Given the description of an element on the screen output the (x, y) to click on. 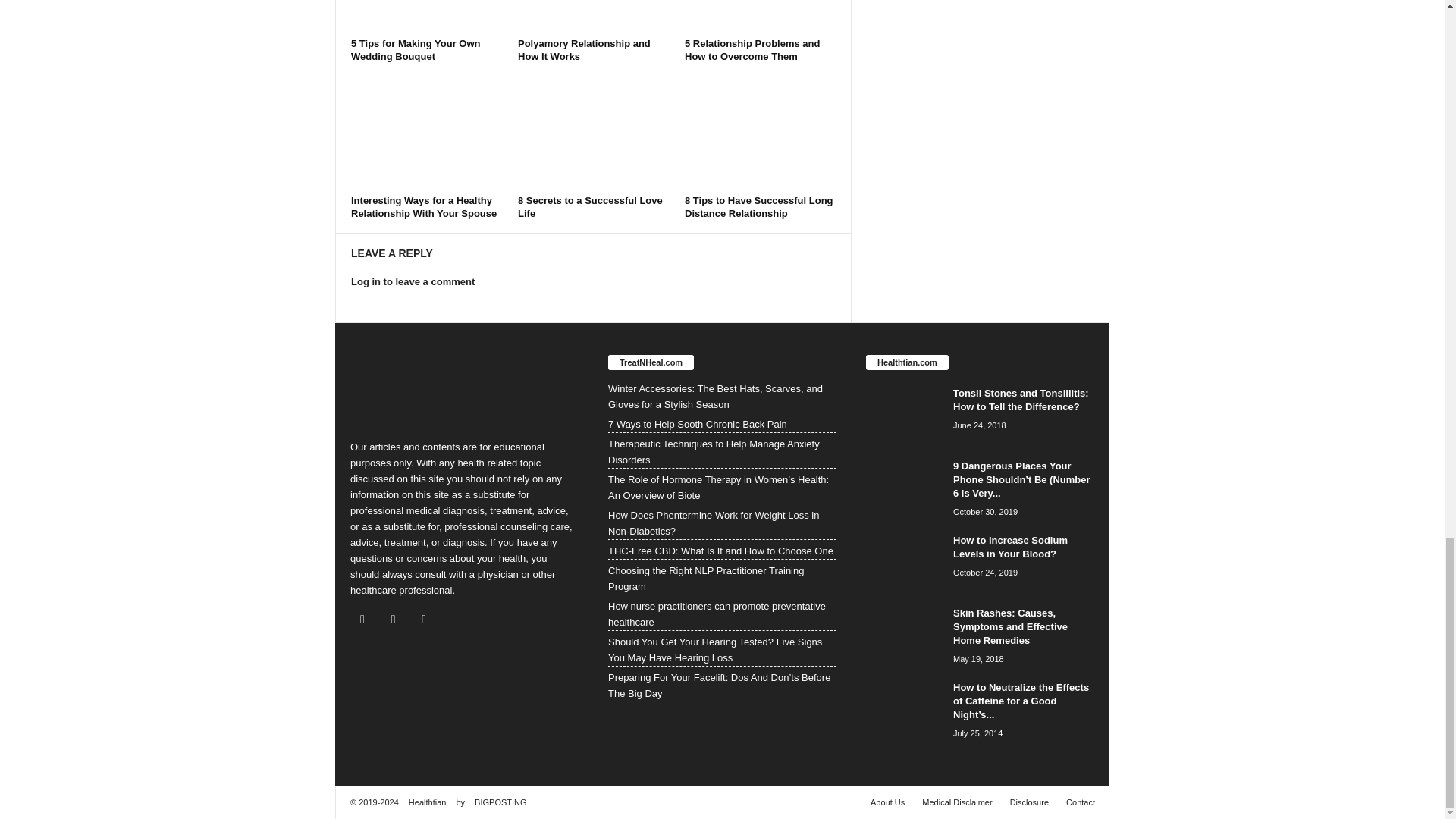
5 Tips for Making Your Own Wedding Bouquet (426, 16)
